Given the description of an element on the screen output the (x, y) to click on. 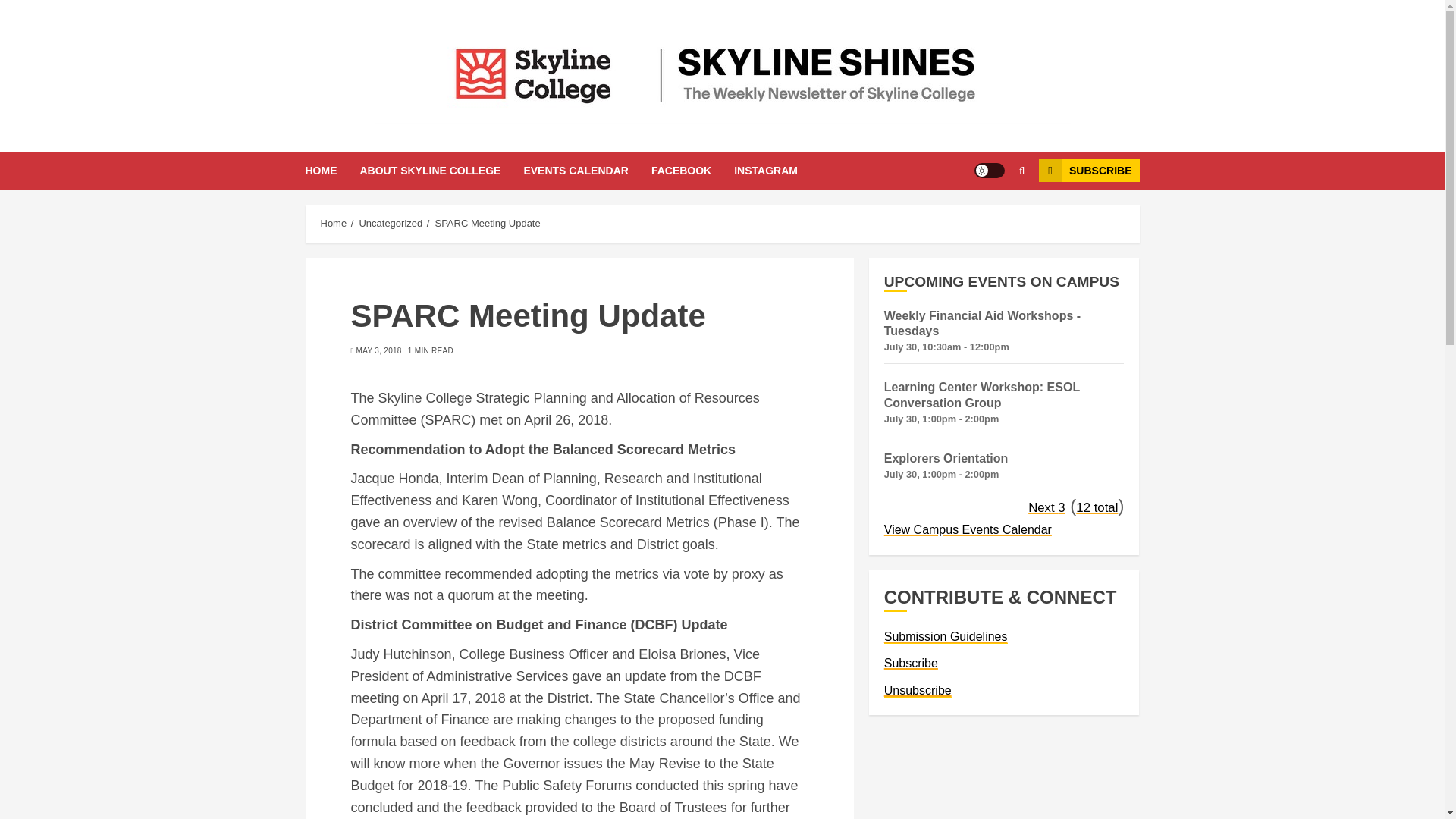
SPARC Meeting Update (486, 223)
MAY 3, 2018 (378, 350)
Subscribe (910, 663)
Search (991, 216)
SUBSCRIBE (1088, 169)
Home (333, 223)
Weekly Financial Aid Workshops - Tuesdays (981, 323)
EVENTS CALENDAR (586, 170)
INSTAGRAM (765, 170)
Submission Guidelines (945, 636)
Learning Center Workshop: ESOL Conversation Group (981, 394)
Explorers Orientation (946, 458)
ABOUT SKYLINE COLLEGE (440, 170)
12 total (1096, 507)
Unsubscribe (917, 690)
